Given the description of an element on the screen output the (x, y) to click on. 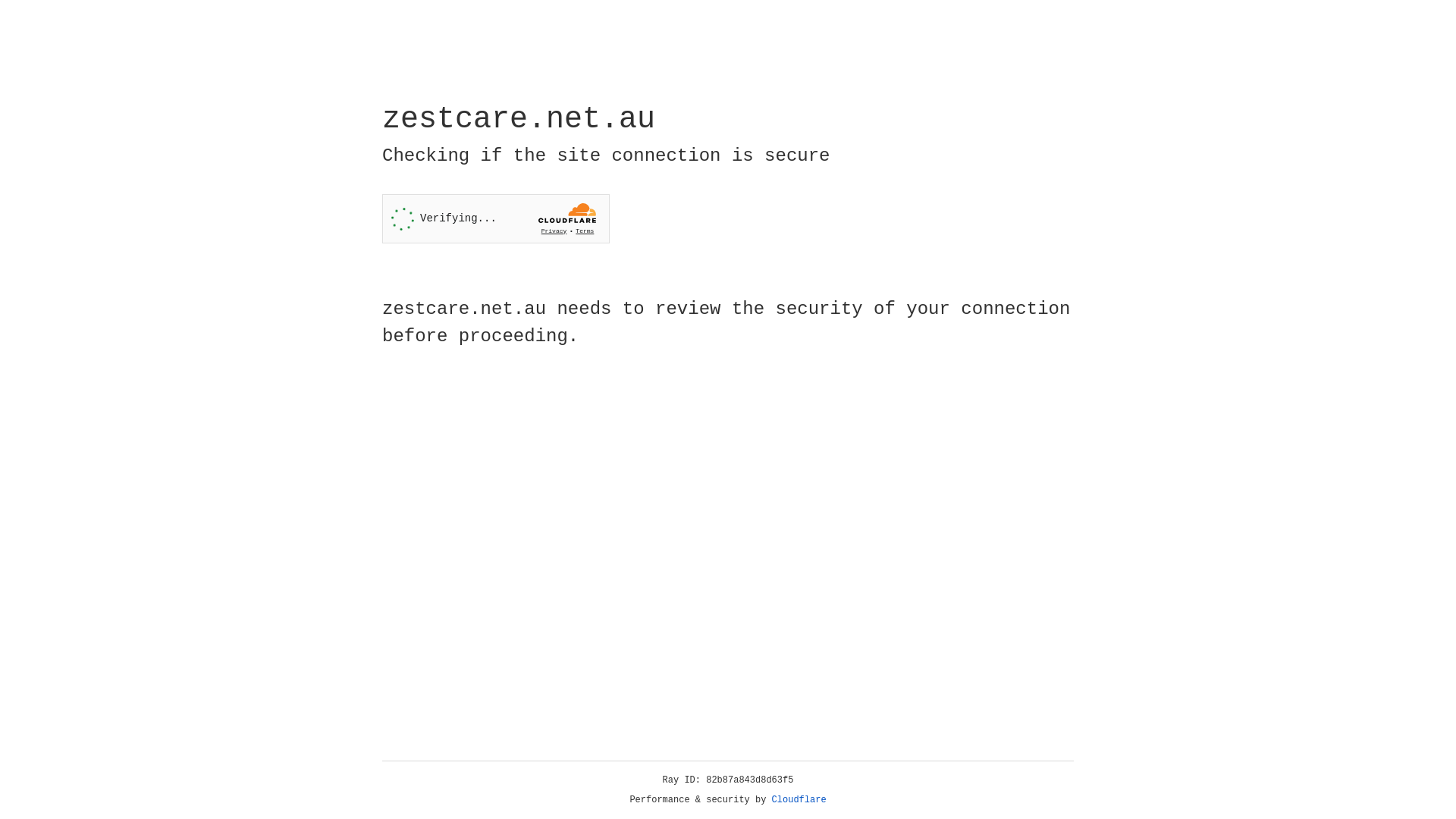
Widget containing a Cloudflare security challenge Element type: hover (495, 218)
Cloudflare Element type: text (798, 799)
